Given the description of an element on the screen output the (x, y) to click on. 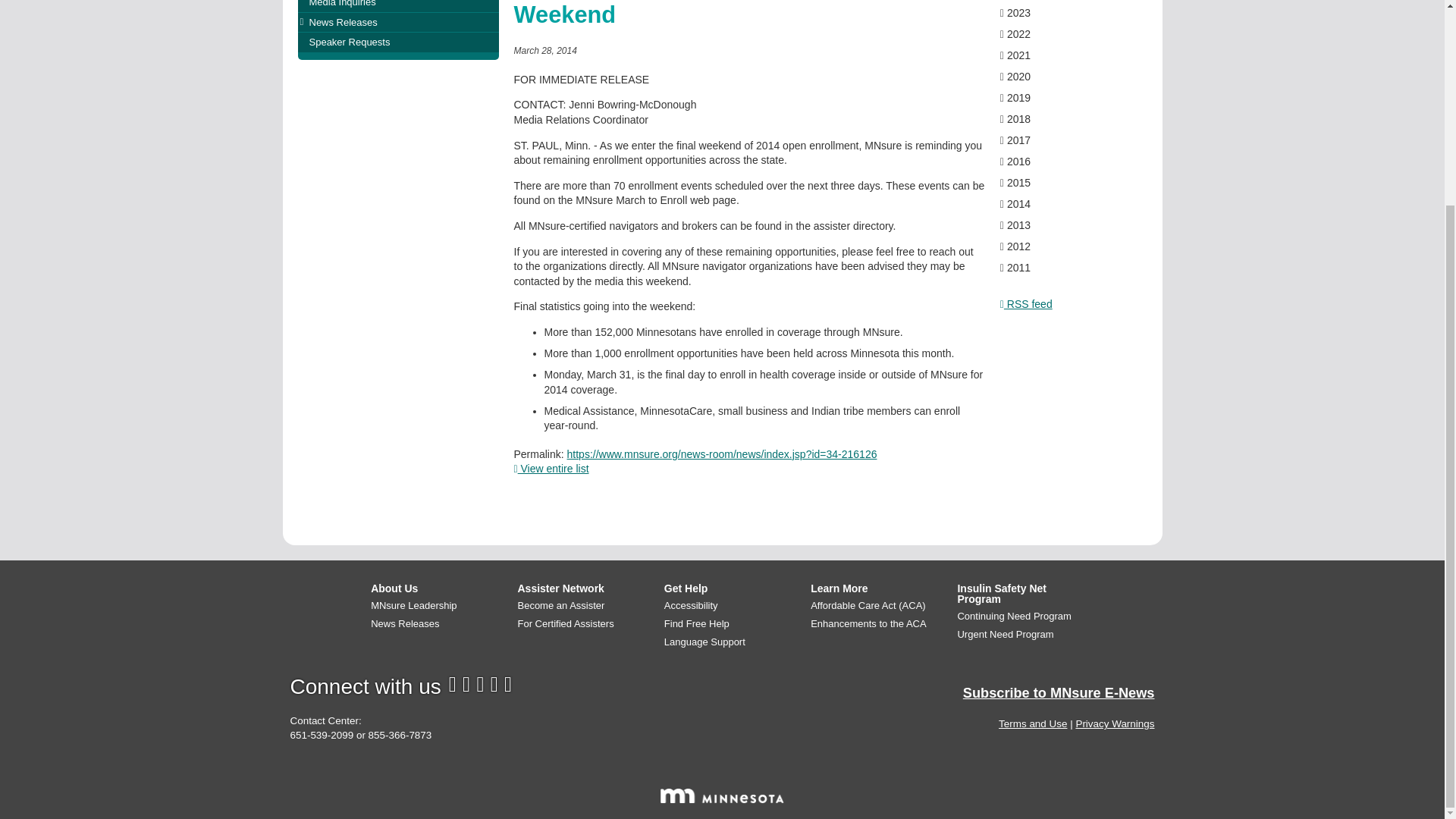
01 Intro - Privacy Warnings (1114, 723)
Proudly serving the State of Minnesota (722, 795)
